Given the description of an element on the screen output the (x, y) to click on. 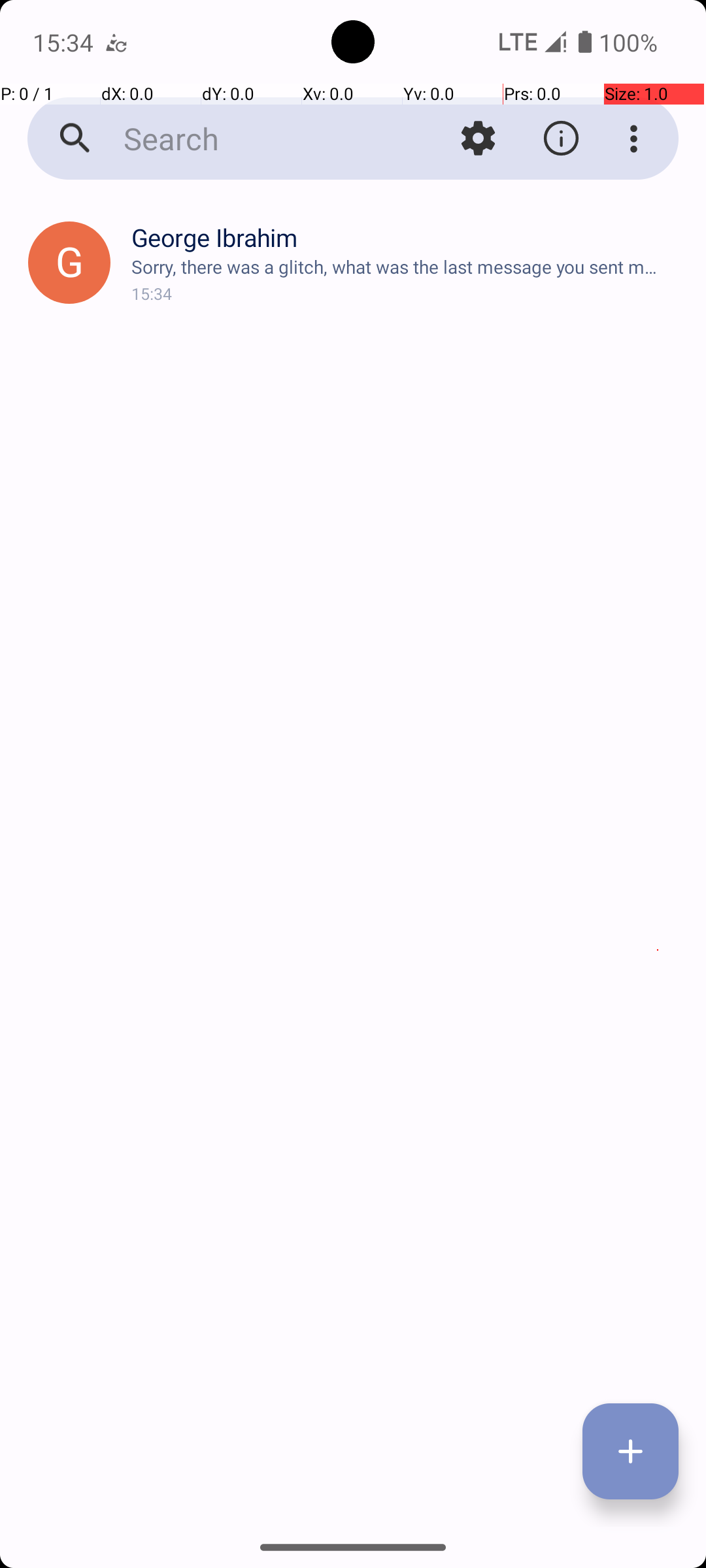
George Ibrahim Element type: android.widget.TextView (408, 237)
